Given the description of an element on the screen output the (x, y) to click on. 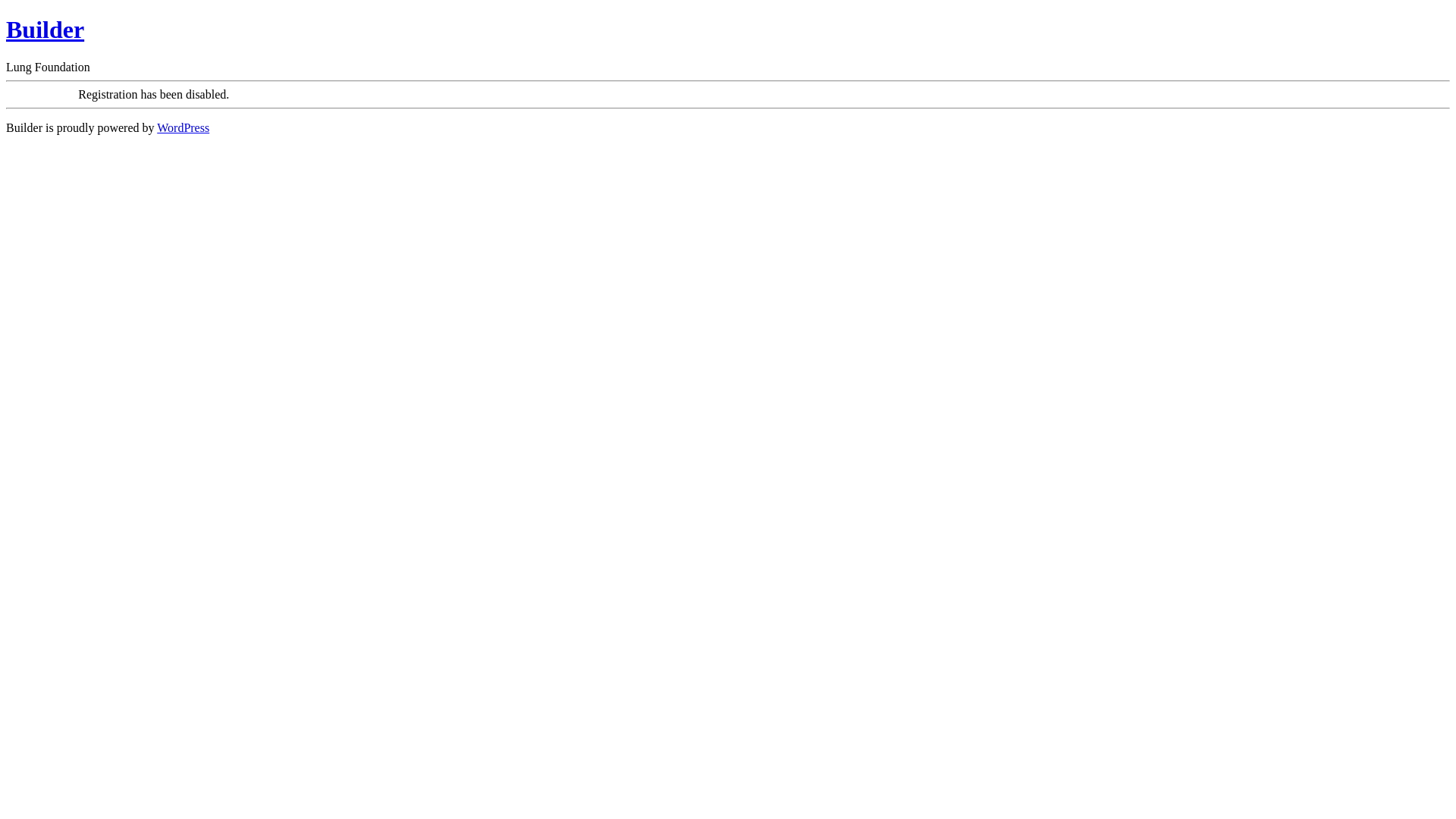
Builder Element type: text (45, 29)
WordPress Element type: text (182, 127)
